Given the description of an element on the screen output the (x, y) to click on. 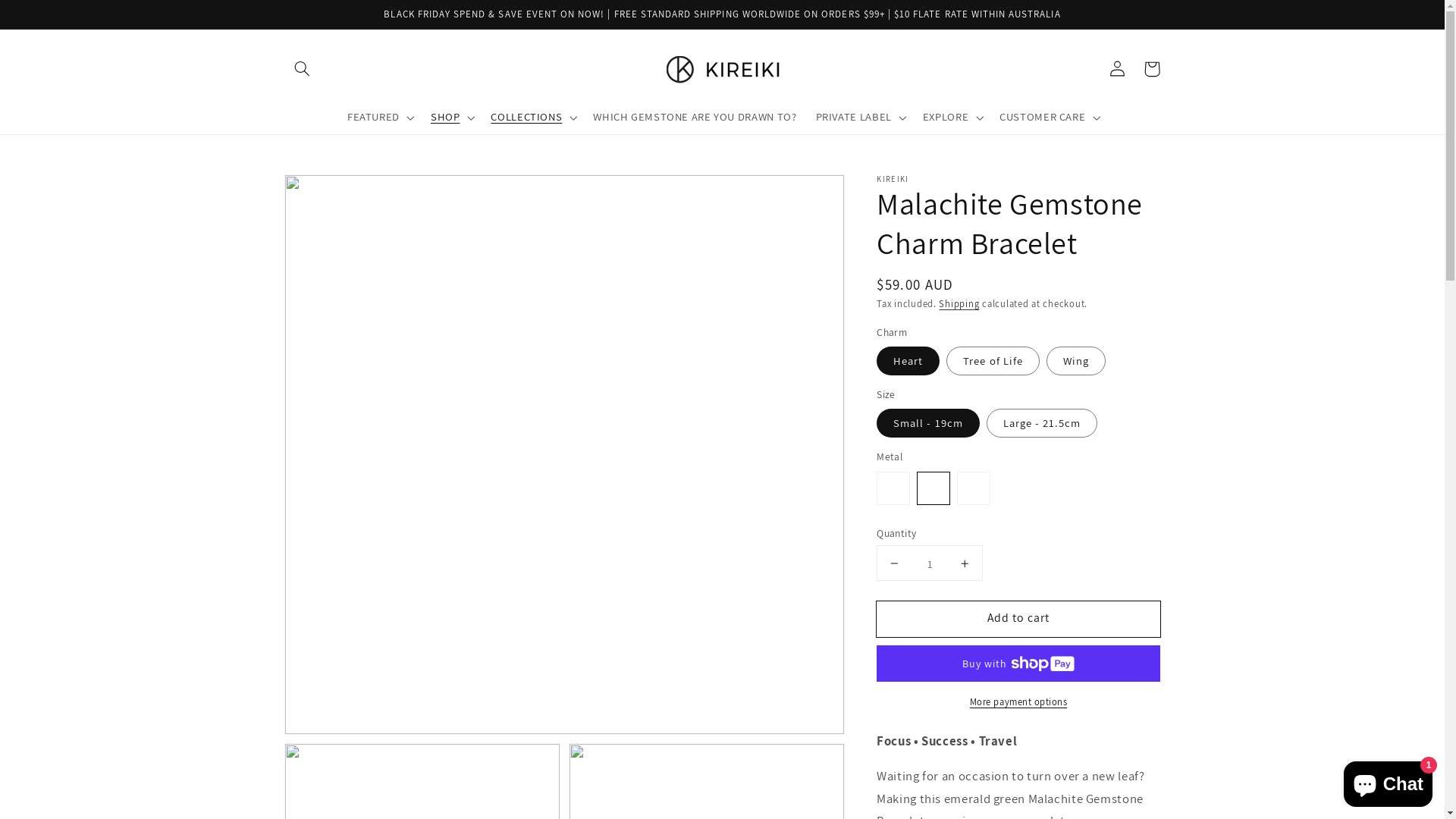
More payment options Element type: text (1018, 702)
Skip to product information Element type: text (331, 191)
Shopify online store chat Element type: hover (1388, 780)
Add to cart Element type: text (1018, 619)
Shipping Element type: text (958, 303)
WHICH GEMSTONE ARE YOU DRAWN TO? Element type: text (694, 117)
Log in Element type: text (1116, 68)
Decrease quantity for Malachite Gemstone Charm Bracelet Element type: text (894, 563)
Increase quantity for Malachite Gemstone Charm Bracelet Element type: text (964, 563)
Open featured media in gallery view Element type: text (564, 454)
Cart Element type: text (1151, 68)
